Given the description of an element on the screen output the (x, y) to click on. 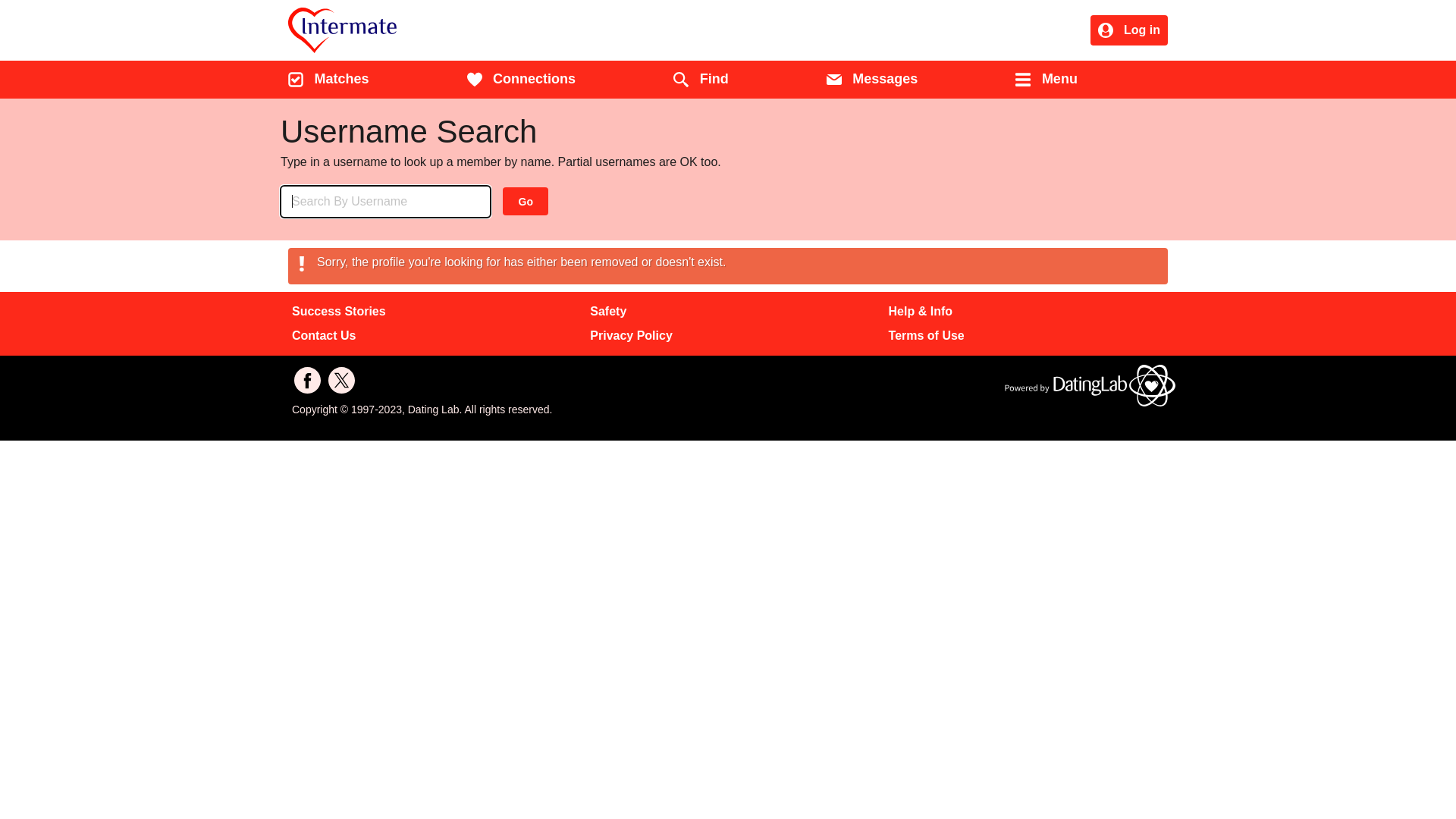
Menu Element type: text (1045, 79)
Safety Element type: text (607, 311)
Intermate Element type: text (424, 30)
Connections Element type: text (521, 79)
Messages Element type: text (872, 79)
Like us Element type: hover (307, 380)
Matches Element type: text (328, 79)
Success Stories Element type: text (338, 311)
Help & Info Element type: text (920, 311)
Terms of Use Element type: text (926, 335)
Find Element type: text (700, 79)
Follow us Element type: hover (341, 380)
Go Element type: text (525, 201)
Contact Us Element type: text (323, 335)
Privacy Policy Element type: text (630, 335)
Log in Element type: text (1129, 31)
